Given the description of an element on the screen output the (x, y) to click on. 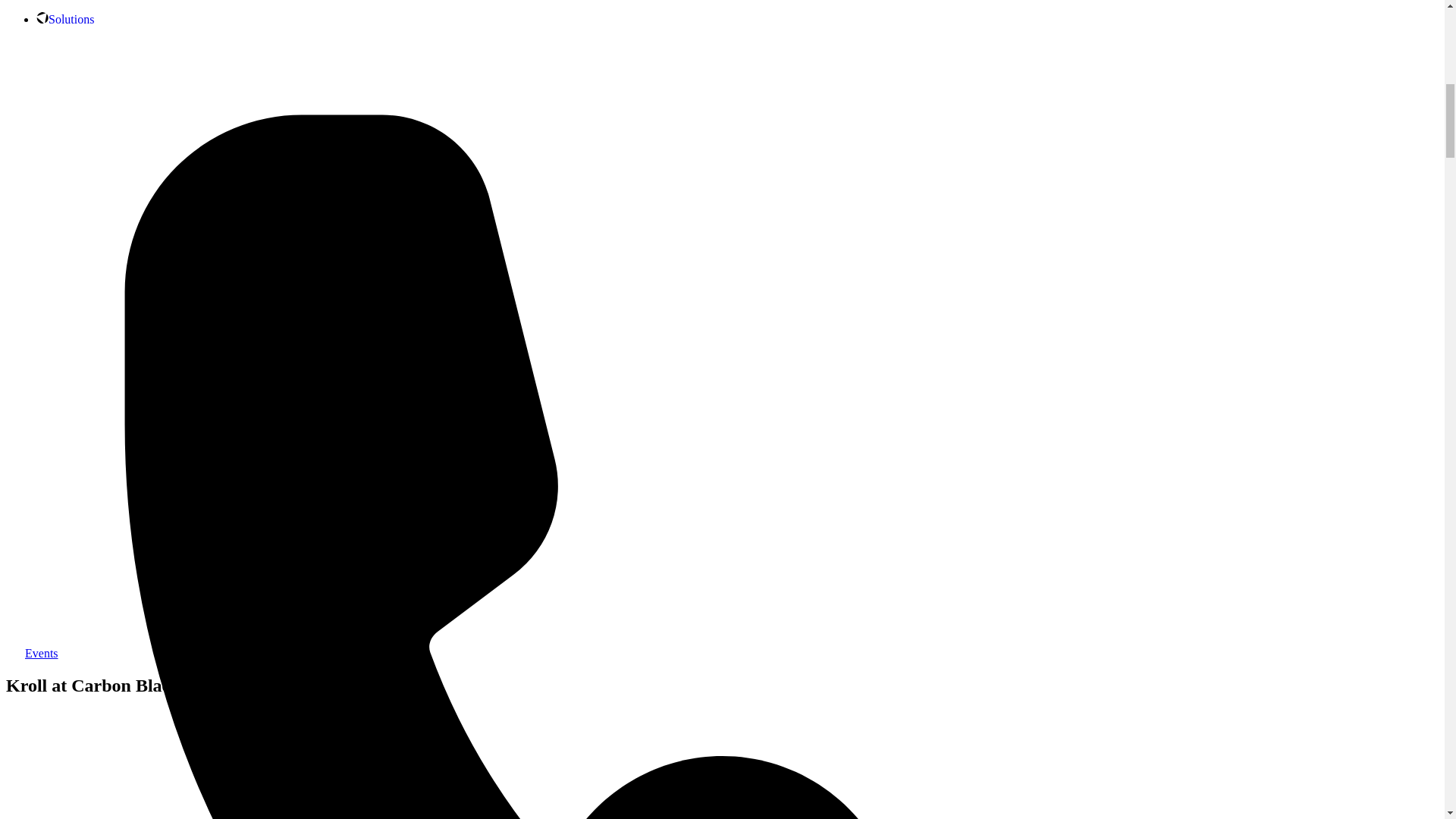
Hotlines (56, 631)
Phone (56, 631)
